Given the description of an element on the screen output the (x, y) to click on. 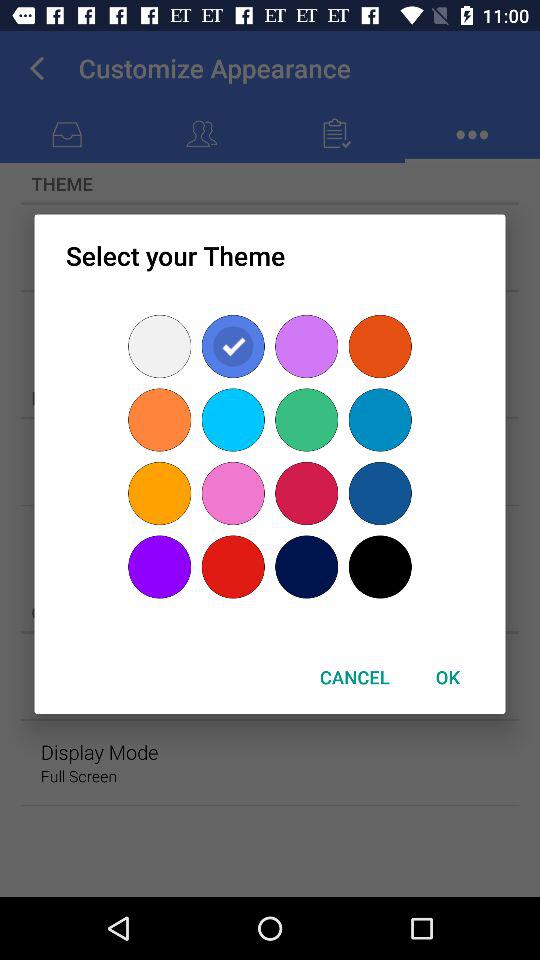
turn off the item next to ok button (354, 676)
